Given the description of an element on the screen output the (x, y) to click on. 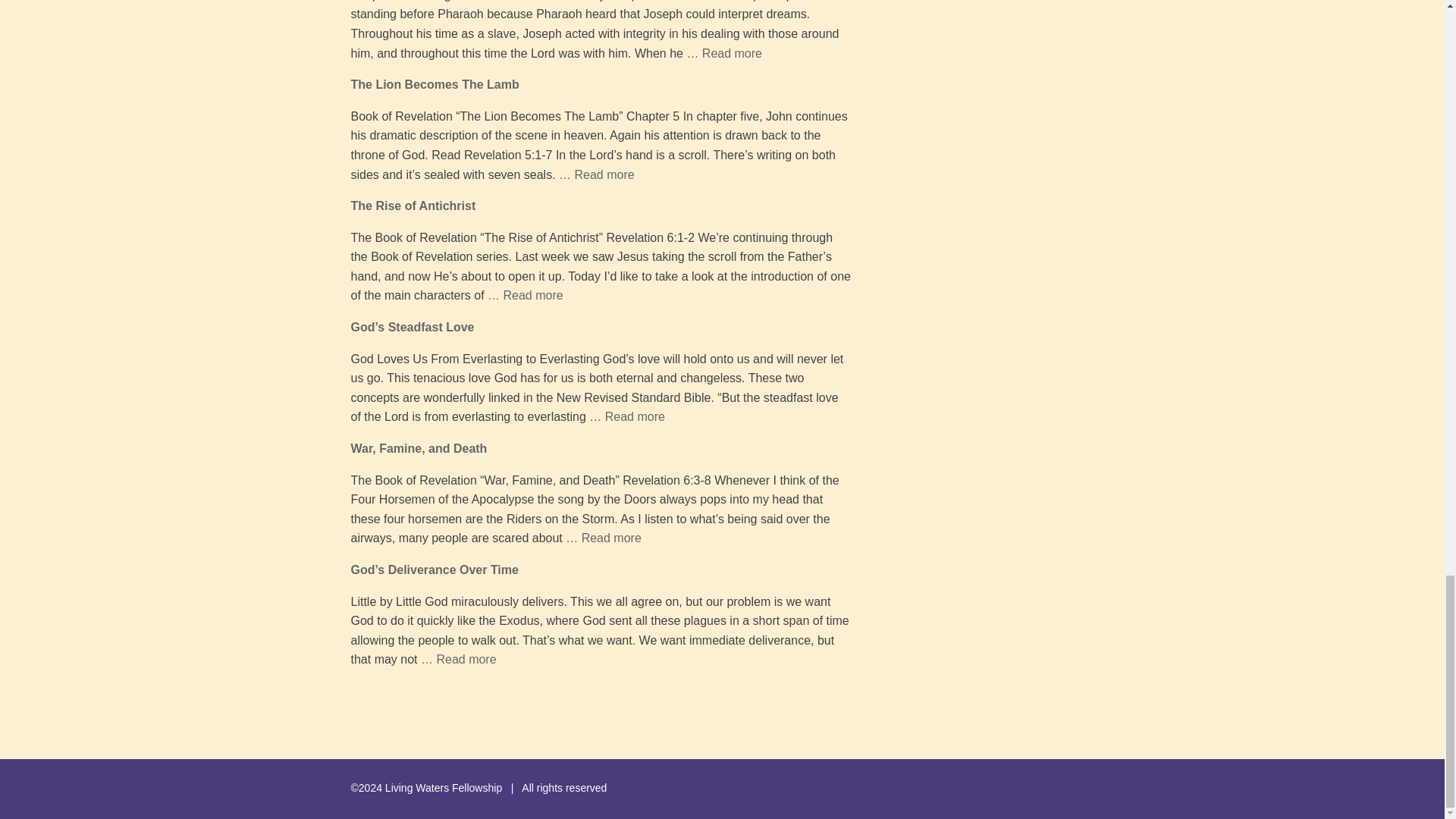
Permanent Link to The Lion Becomes The Lamb (434, 83)
Permanent Link to The Rise of Antichrist (413, 205)
Permanent Link to War, Famine, and Death (418, 448)
